Given the description of an element on the screen output the (x, y) to click on. 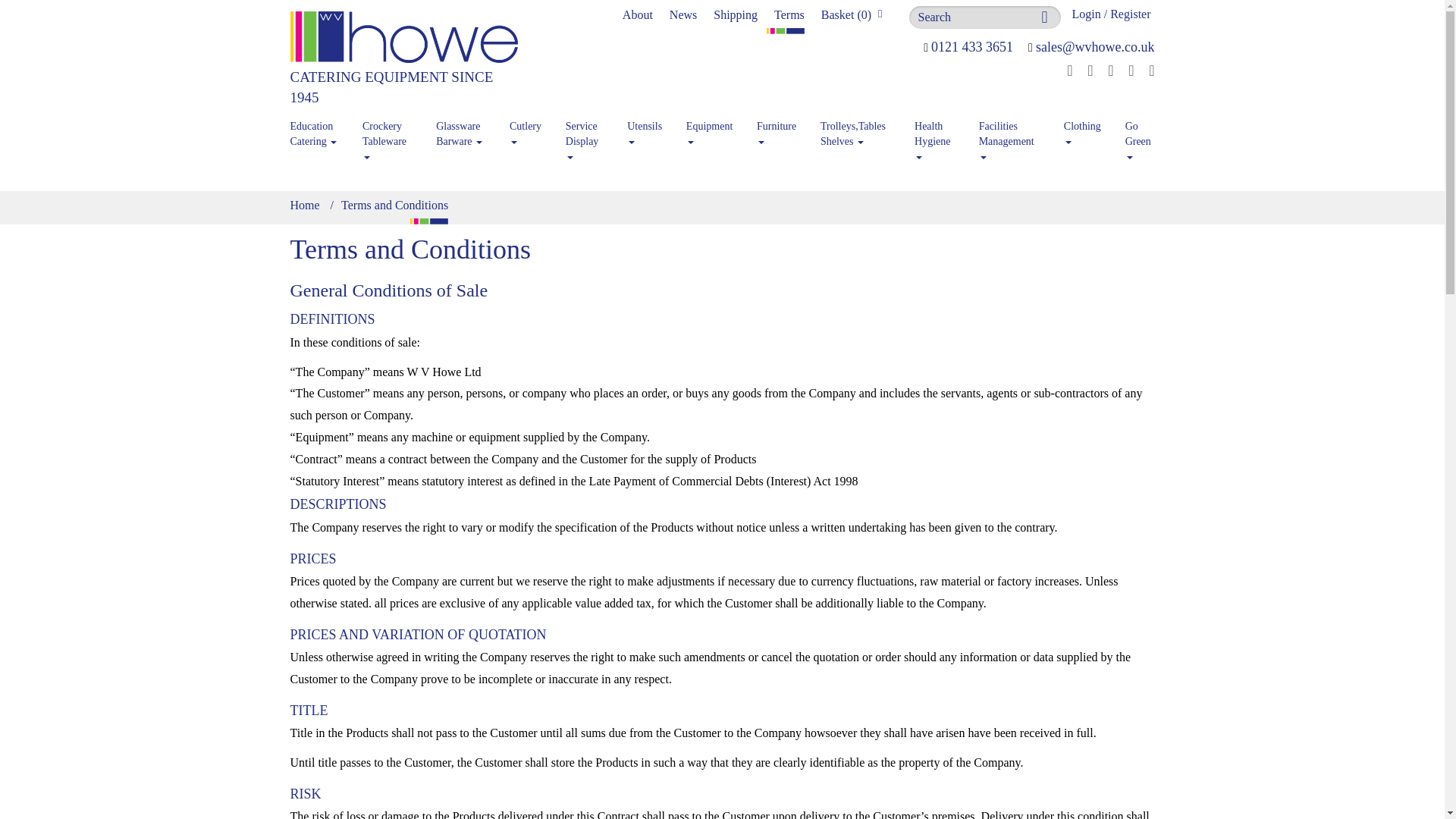
twitter (1084, 70)
about (781, 17)
instagram (1104, 70)
News (674, 17)
Education Catering (314, 133)
about (628, 17)
facebook (1064, 70)
W.V. Howe Limited logo (402, 59)
Education Catering (314, 133)
new (674, 17)
